Given the description of an element on the screen output the (x, y) to click on. 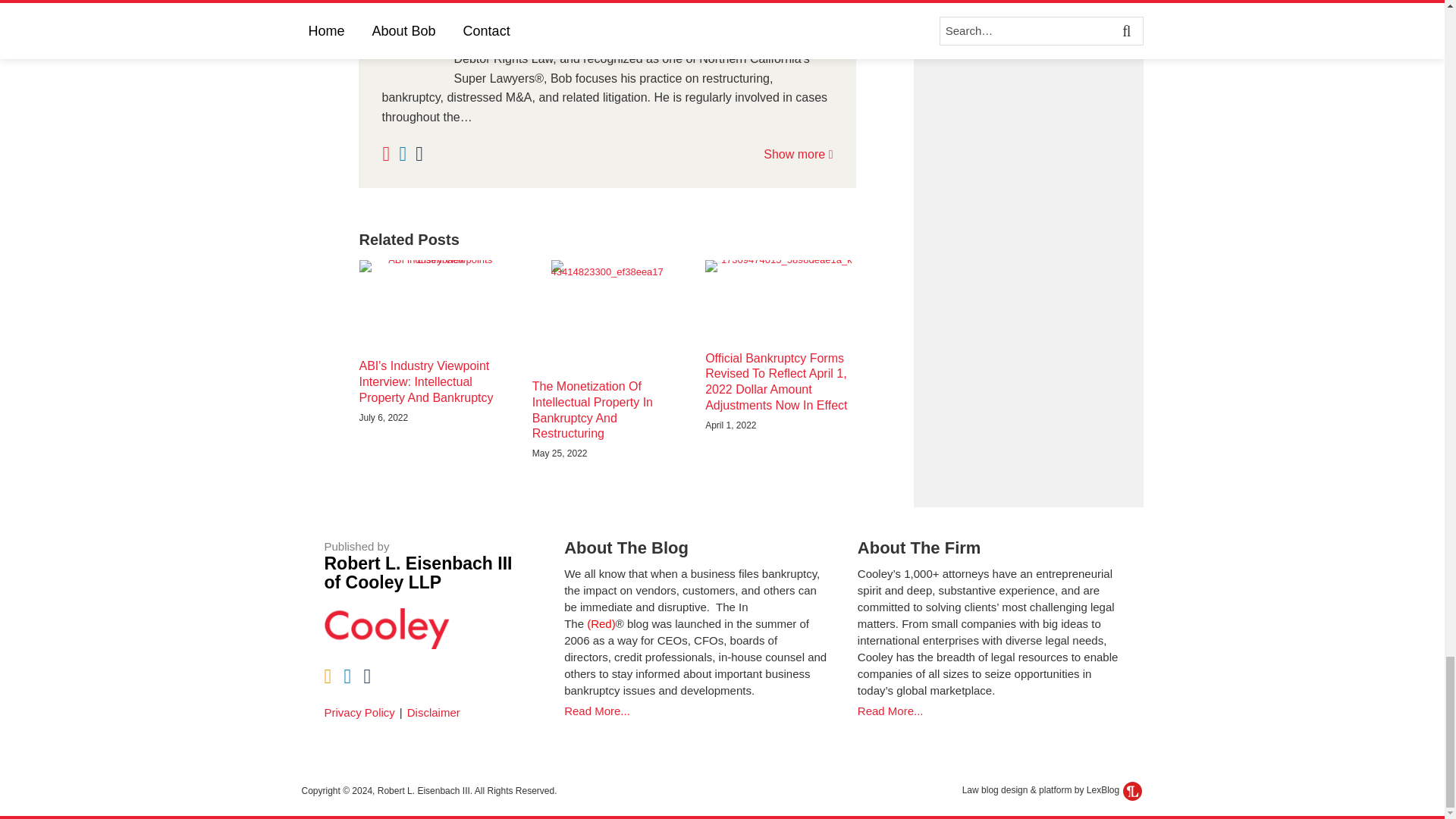
LexBlog Logo (1131, 791)
Show more (797, 154)
Bob Eisenbach (606, 20)
